Given the description of an element on the screen output the (x, y) to click on. 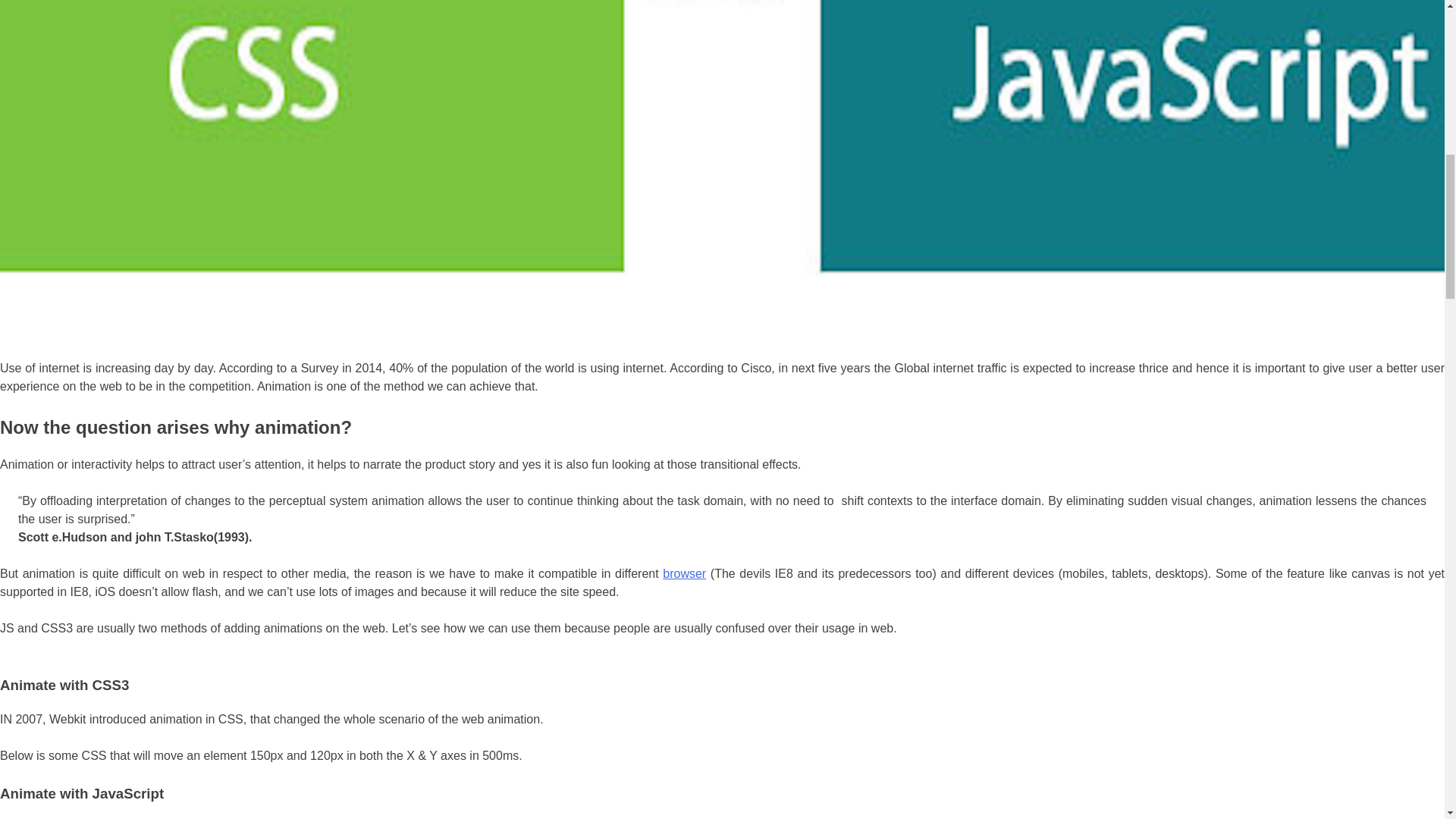
browser (684, 573)
